Given the description of an element on the screen output the (x, y) to click on. 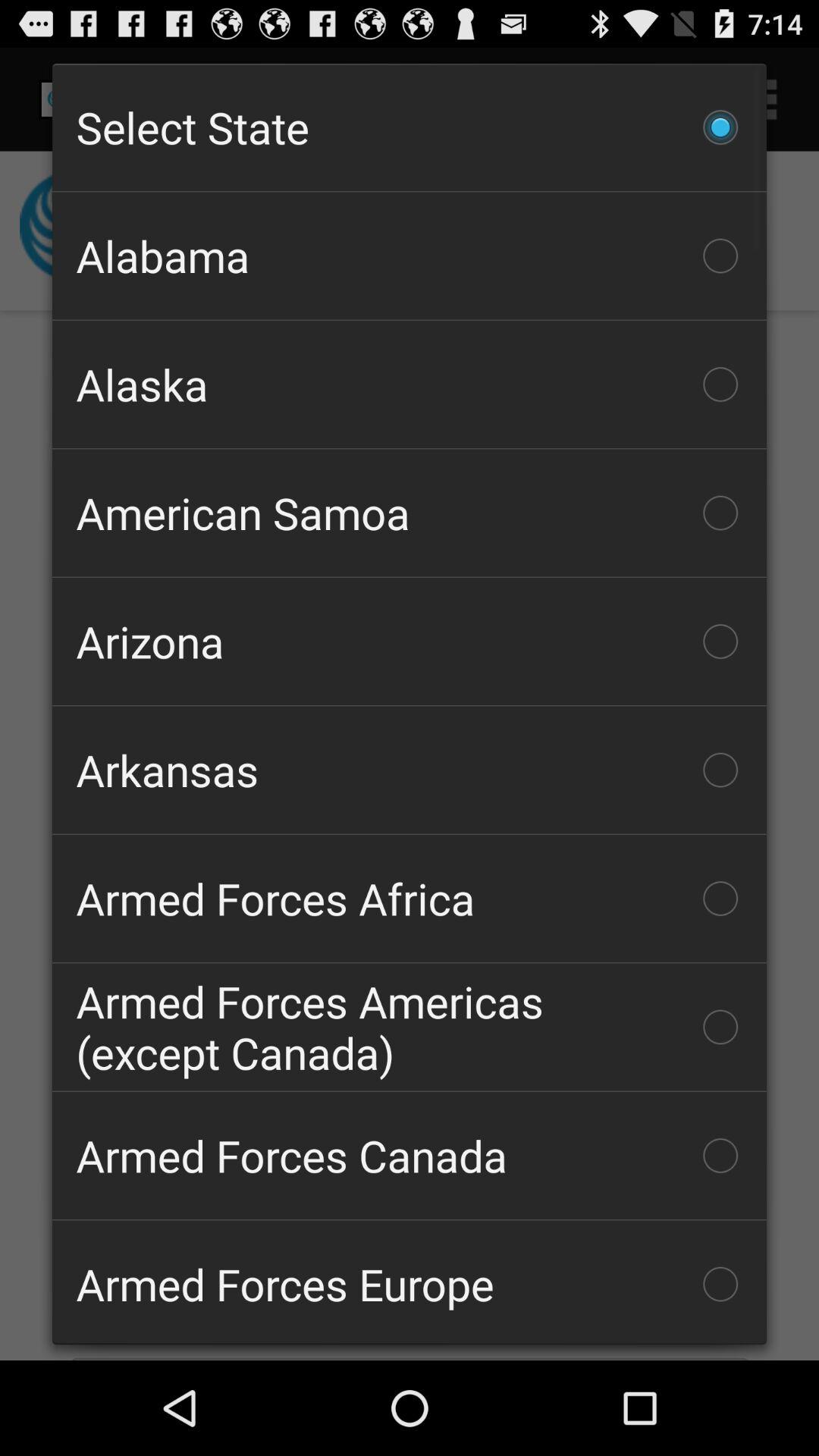
turn on alaska checkbox (409, 384)
